Given the description of an element on the screen output the (x, y) to click on. 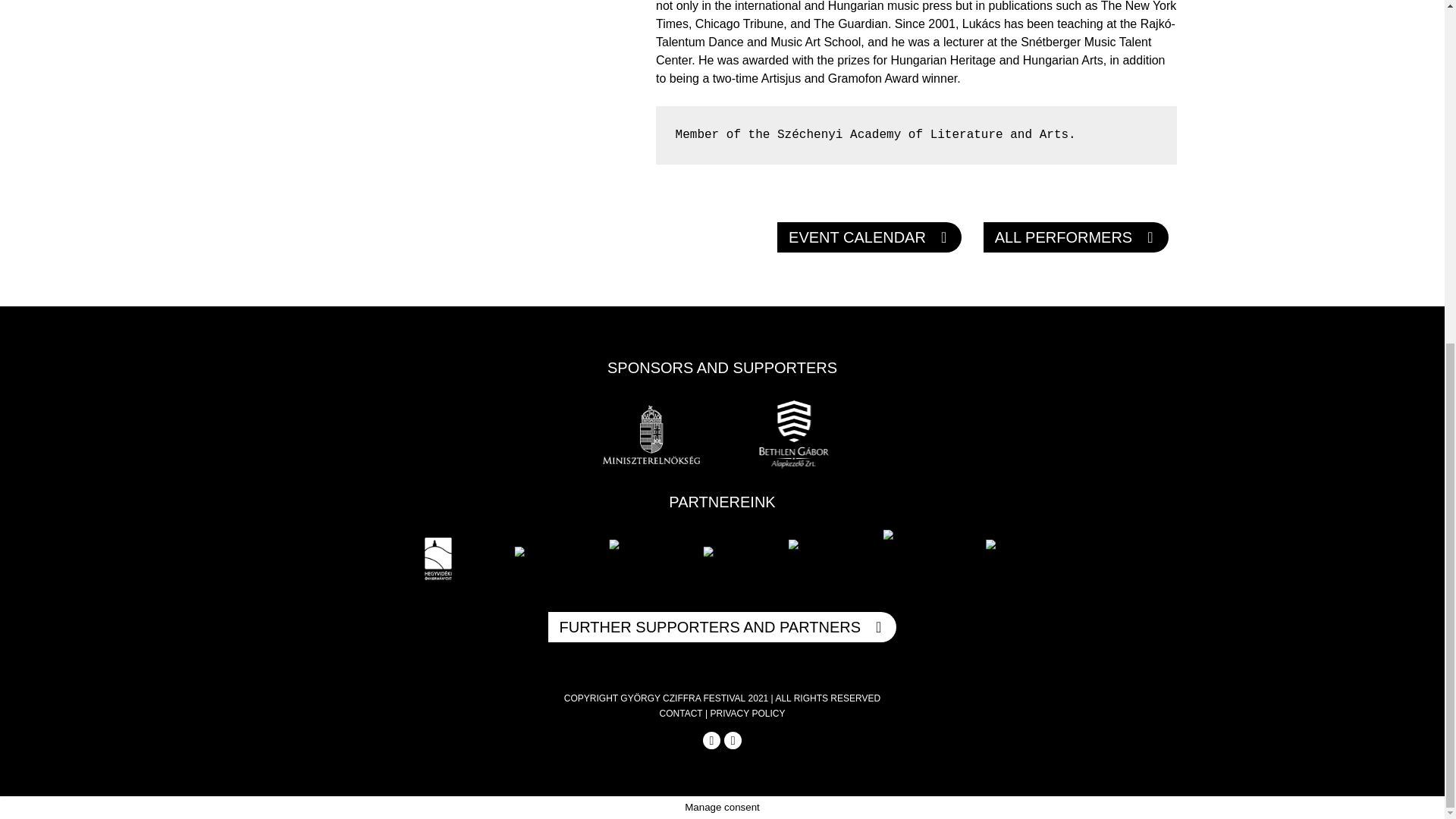
EVENT CALENDAR (868, 236)
CONTACT (681, 713)
FURTHER SUPPORTERS AND PARTNERS (722, 626)
PRIVACY POLICY (747, 713)
ALL PERFORMERS (1076, 236)
